Given the description of an element on the screen output the (x, y) to click on. 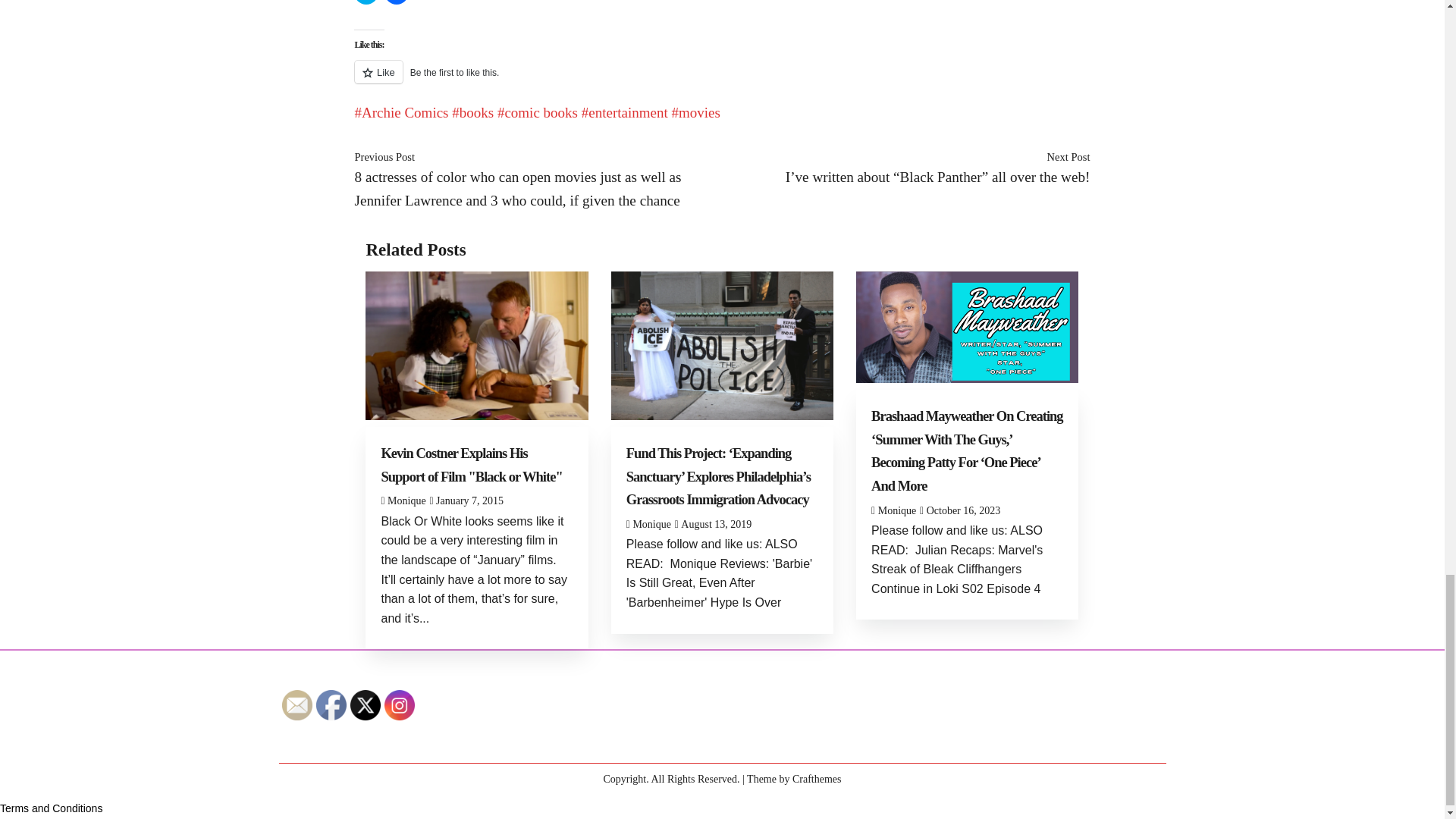
Twitter (365, 705)
Click to share on Facebook (396, 2)
Like or Reblog (721, 80)
Instagram (398, 705)
Click to share on Twitter (365, 2)
Facebook (330, 705)
Follow by Email (297, 705)
